Given the description of an element on the screen output the (x, y) to click on. 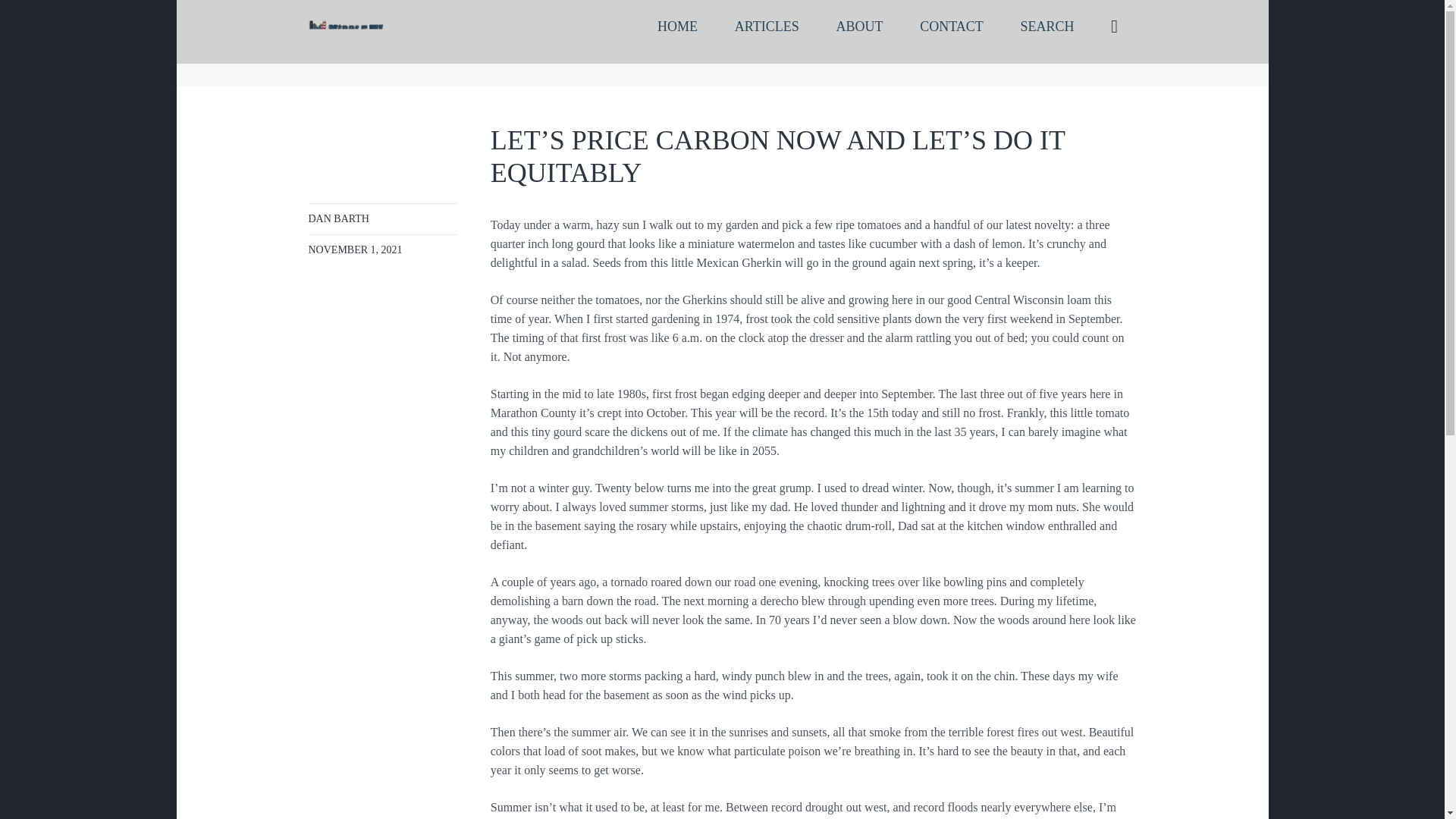
Posts by Dan Barth (337, 218)
HOME (677, 27)
ABOUT (859, 27)
SEARCH (1047, 27)
CONTACT (951, 27)
DAN BARTH (337, 218)
ARTICLES (766, 27)
